Given the description of an element on the screen output the (x, y) to click on. 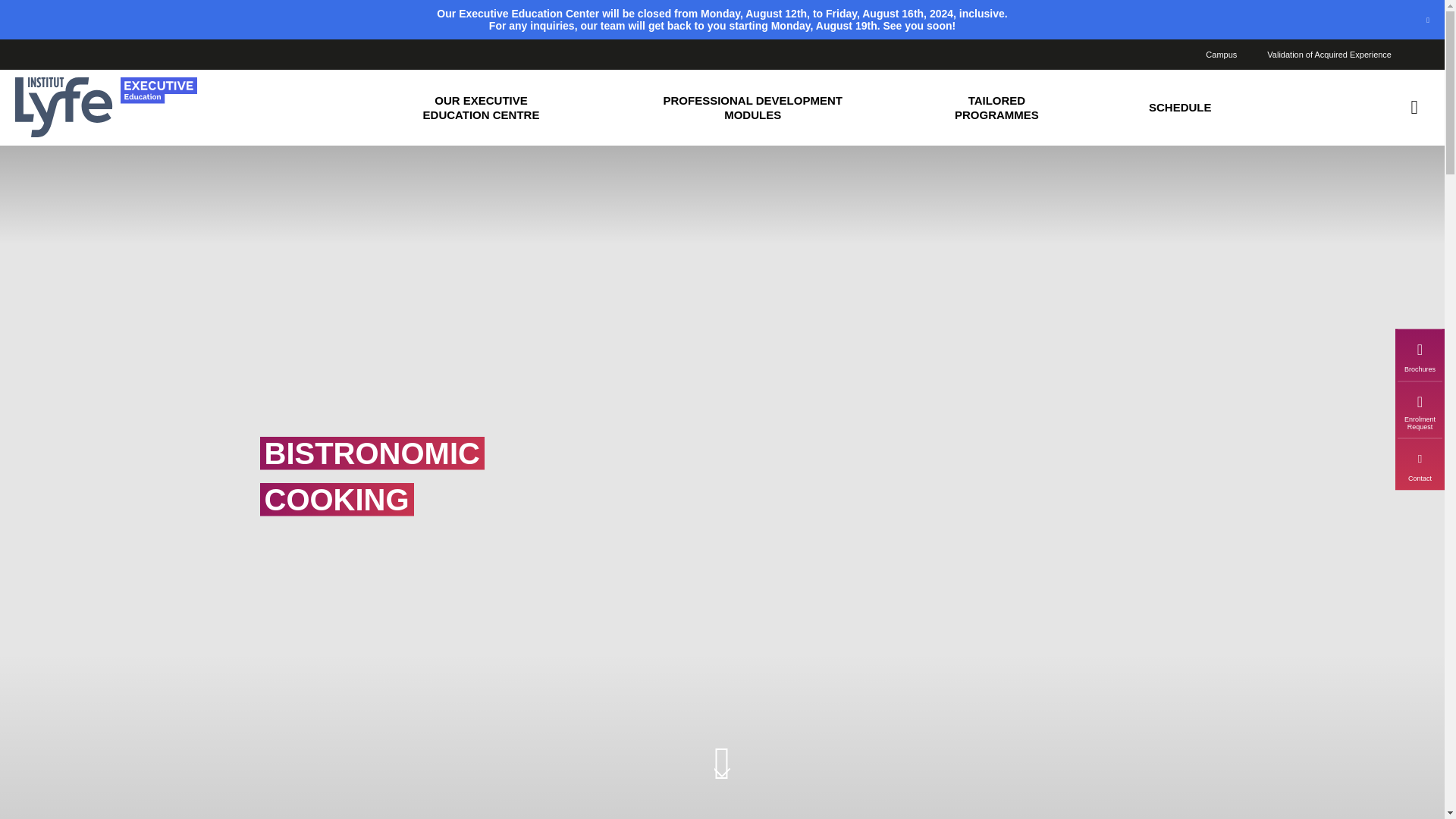
Campus (1221, 54)
Validation of Acquired Experience (1329, 54)
Back to home (105, 107)
TAILORED PROGRAMMES (997, 107)
PROFESSIONAL DEVELOPMENT MODULES (752, 107)
Validation of Acquired Experience (1329, 54)
Campus (1221, 54)
Search (1414, 107)
OUR EXECUTIVE EDUCATION CENTRE (480, 107)
SCHEDULE (1180, 107)
